Given the description of an element on the screen output the (x, y) to click on. 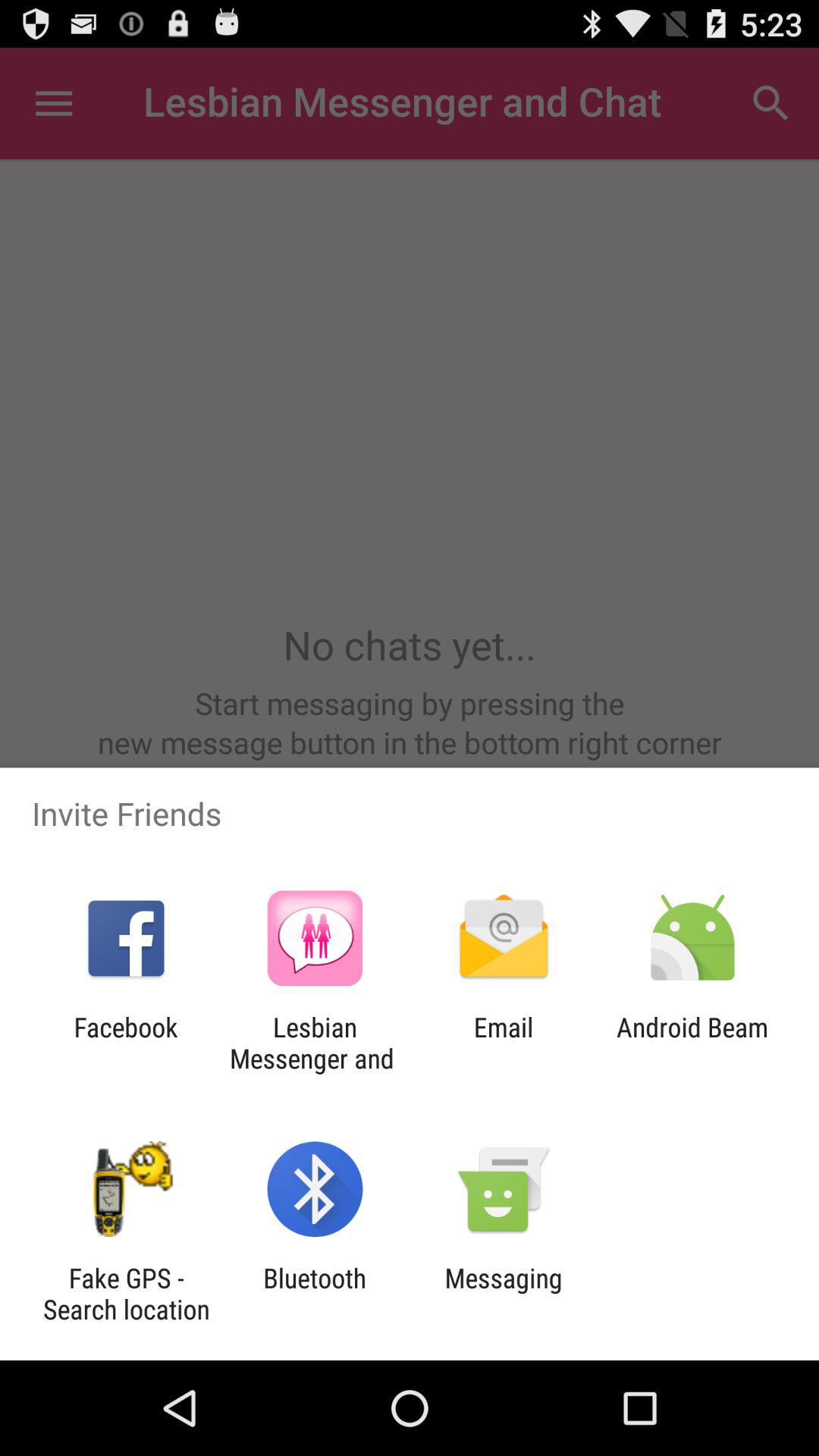
click the icon next to the lesbian messenger and item (125, 1042)
